Given the description of an element on the screen output the (x, y) to click on. 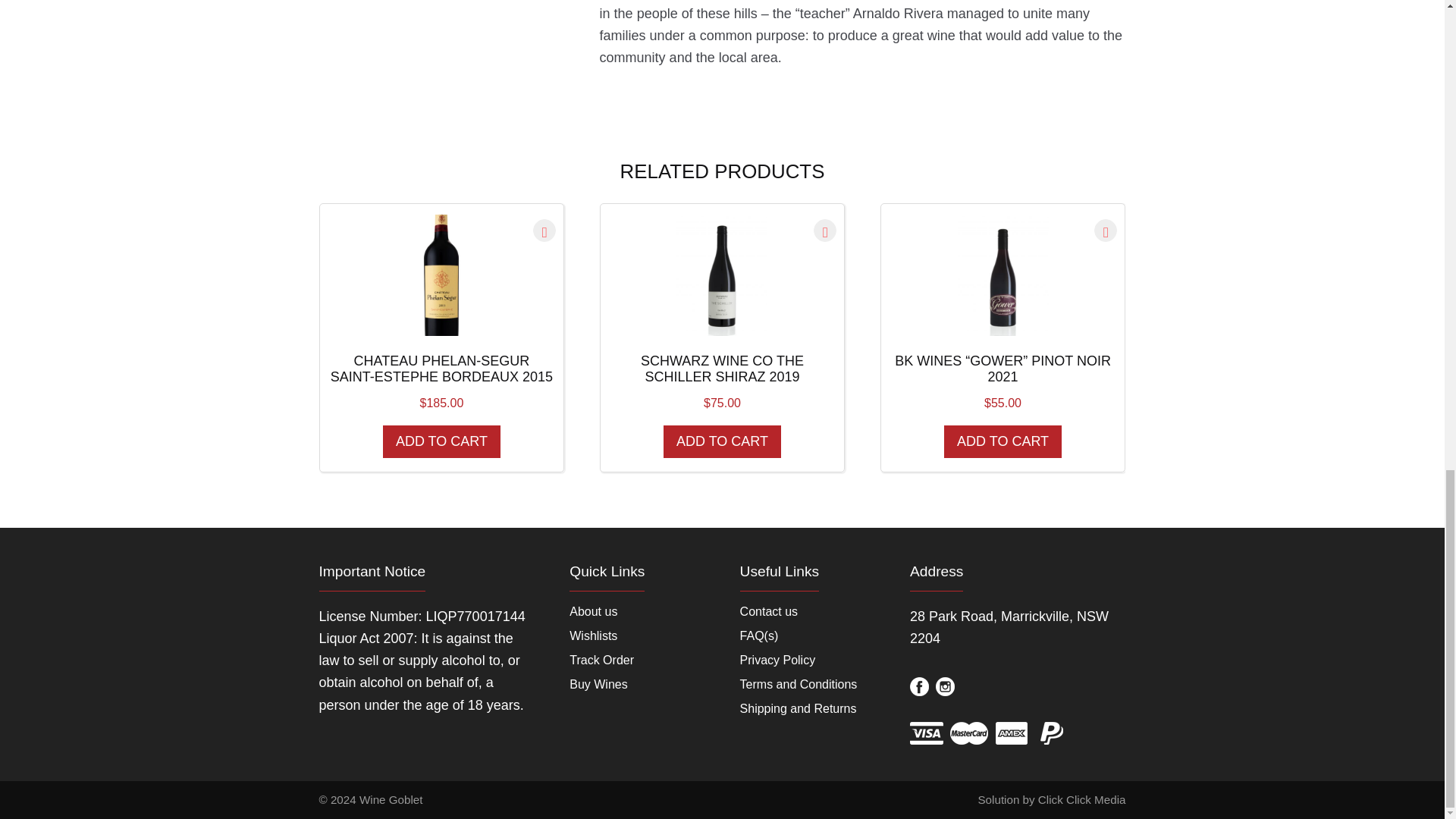
Follow us on Instagram (945, 686)
Like us on Facebook (919, 686)
